Given the description of an element on the screen output the (x, y) to click on. 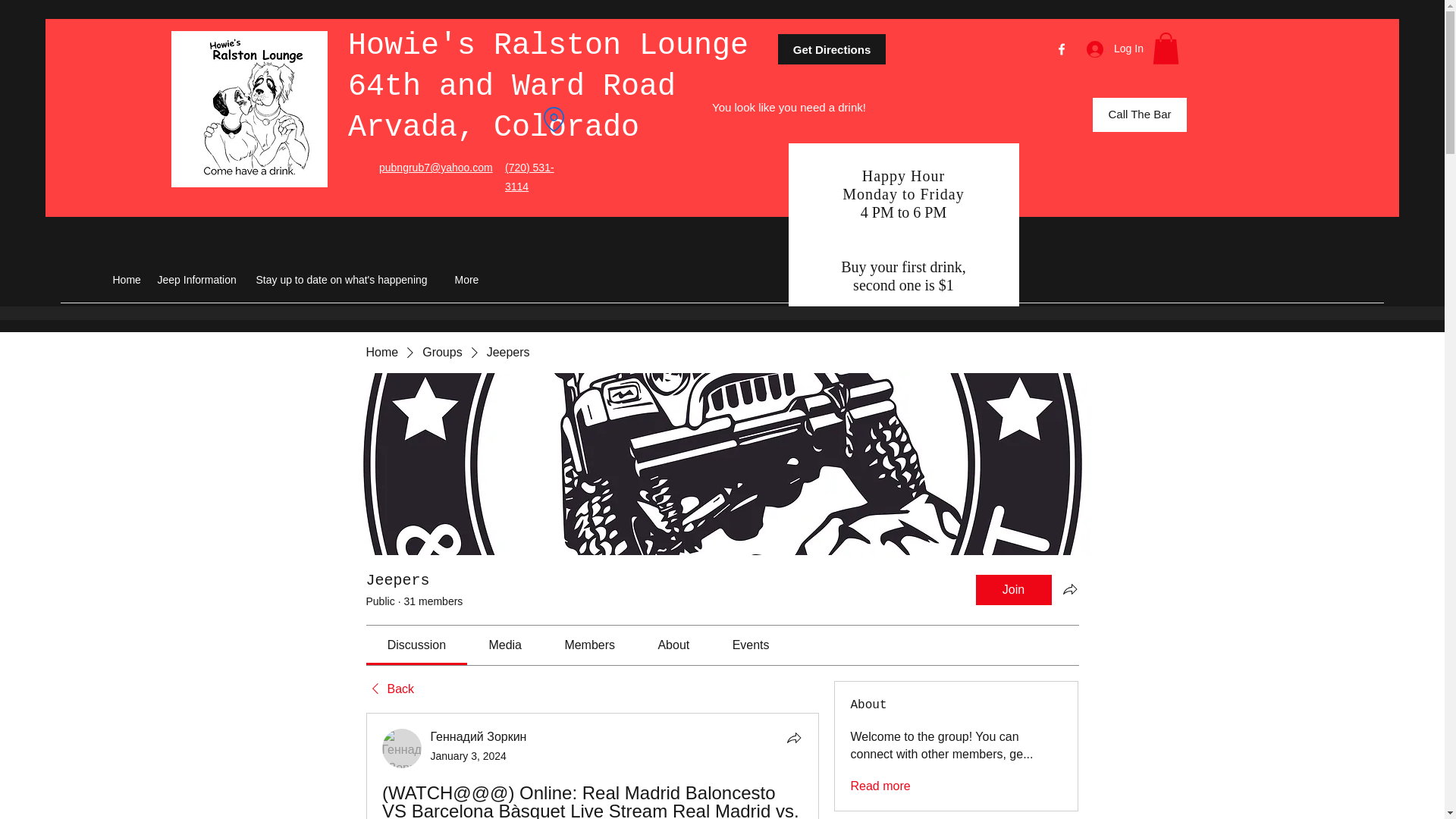
Home (126, 279)
Call The Bar (1139, 114)
Howie's Ralston Lounge (547, 45)
January 3, 2024 (468, 756)
Read more (880, 786)
Home (381, 352)
Groups (441, 352)
Join (1013, 589)
Back (389, 688)
Get Directions (831, 49)
Log In (1109, 49)
Jeep Information (198, 279)
Stay up to date on what's happening (347, 279)
